Given the description of an element on the screen output the (x, y) to click on. 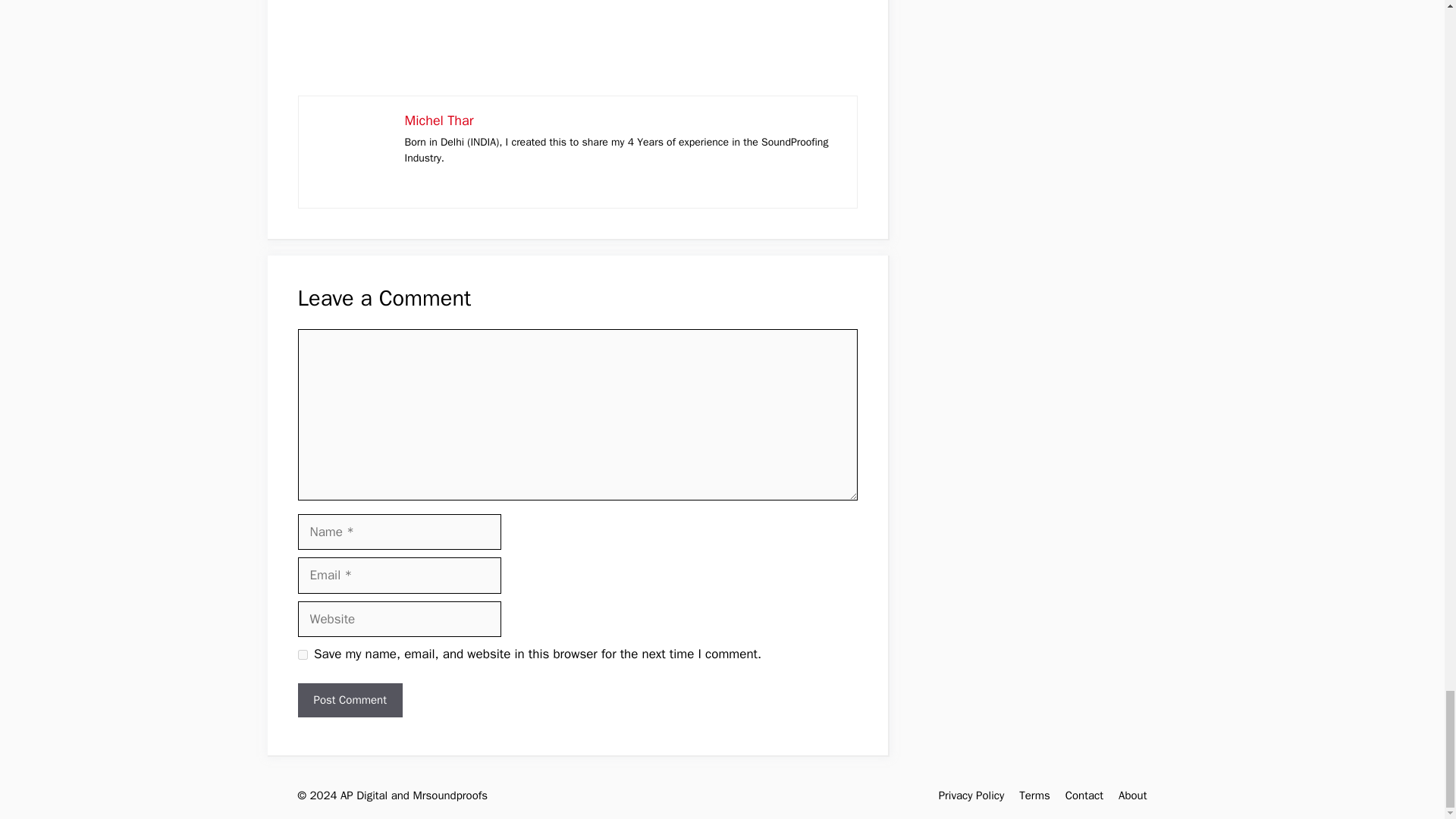
Michel Thar (439, 120)
Terms (1034, 795)
Mrsoundproofs (449, 795)
AP Digital (363, 795)
yes (302, 655)
About (1132, 795)
Privacy Policy (971, 795)
Post Comment (349, 700)
Contact (1084, 795)
Post Comment (349, 700)
